Given the description of an element on the screen output the (x, y) to click on. 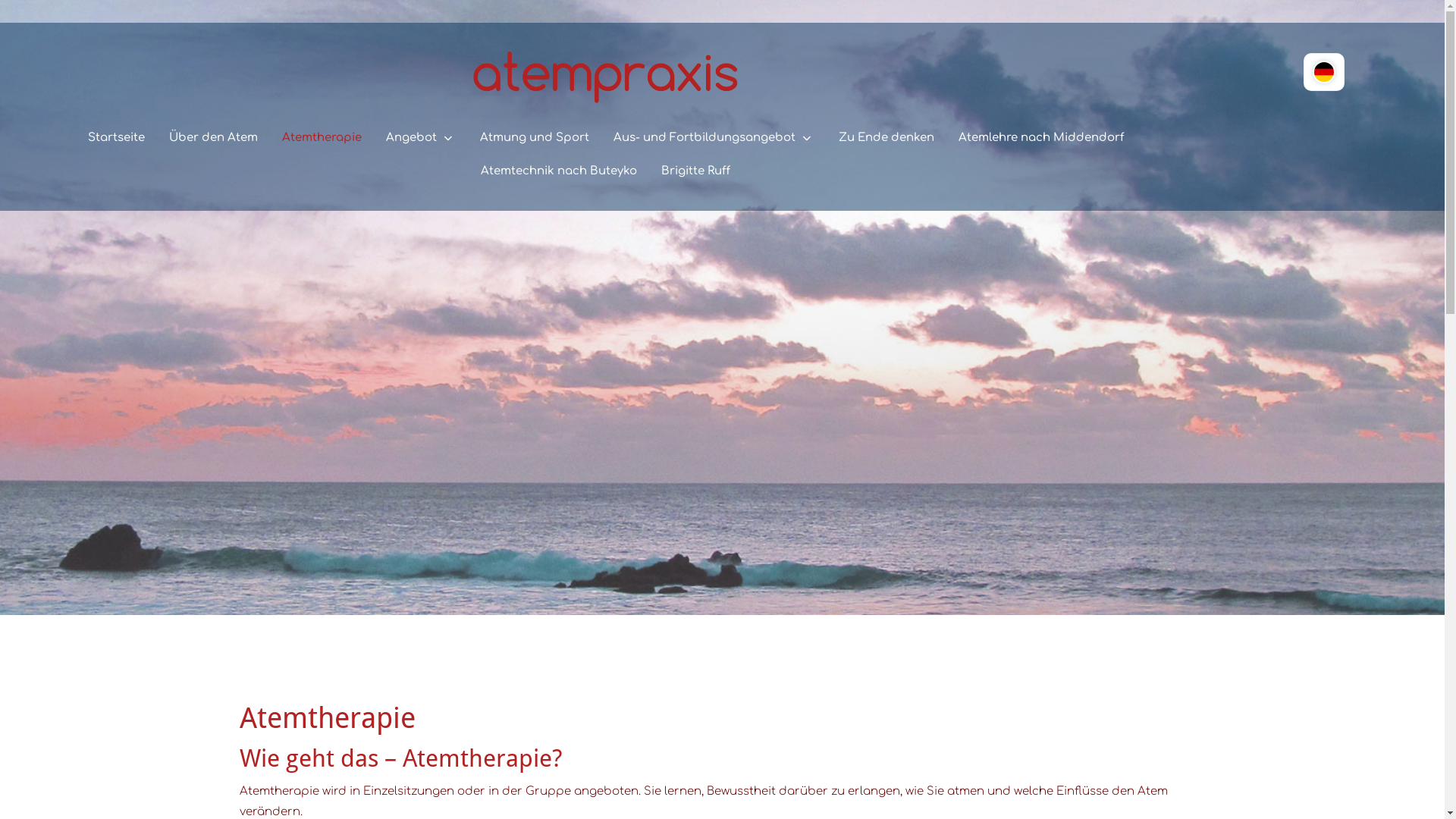
Angebot Element type: text (420, 137)
Atmung und Sport Element type: text (534, 137)
Zu Ende denken Element type: text (886, 137)
Aus- und Fortbildungsangebot Element type: text (713, 137)
Startseite Element type: text (115, 137)
Brigitte Ruff Element type: text (695, 171)
Atemtherapie Element type: text (321, 137)
Atemlehre nach Middendorf Element type: text (1040, 137)
Atemtechnik nach Buteyko Element type: text (558, 171)
